Given the description of an element on the screen output the (x, y) to click on. 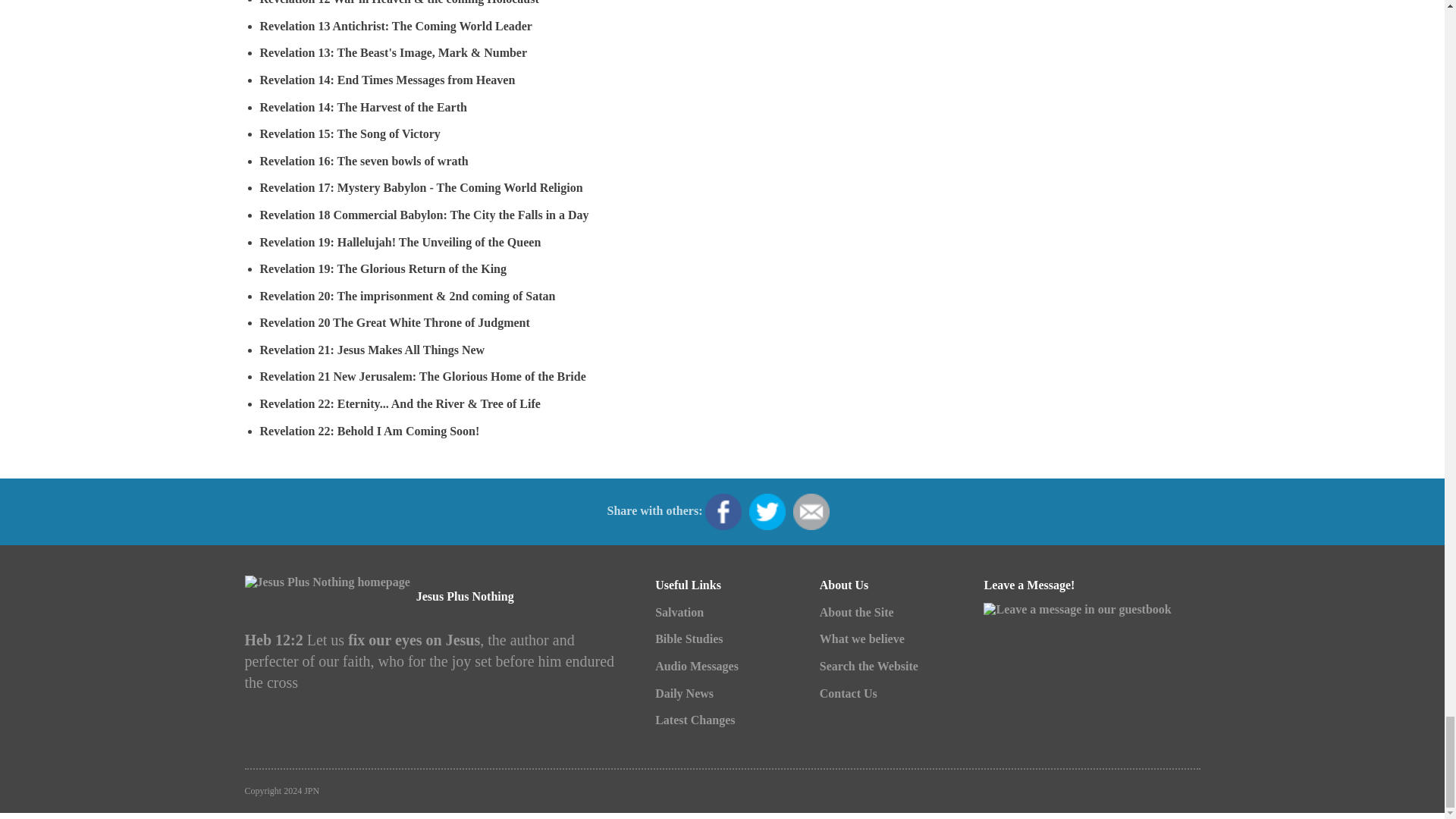
Share on Twitter (767, 511)
Email (811, 511)
Share on Facebook (722, 511)
